Given the description of an element on the screen output the (x, y) to click on. 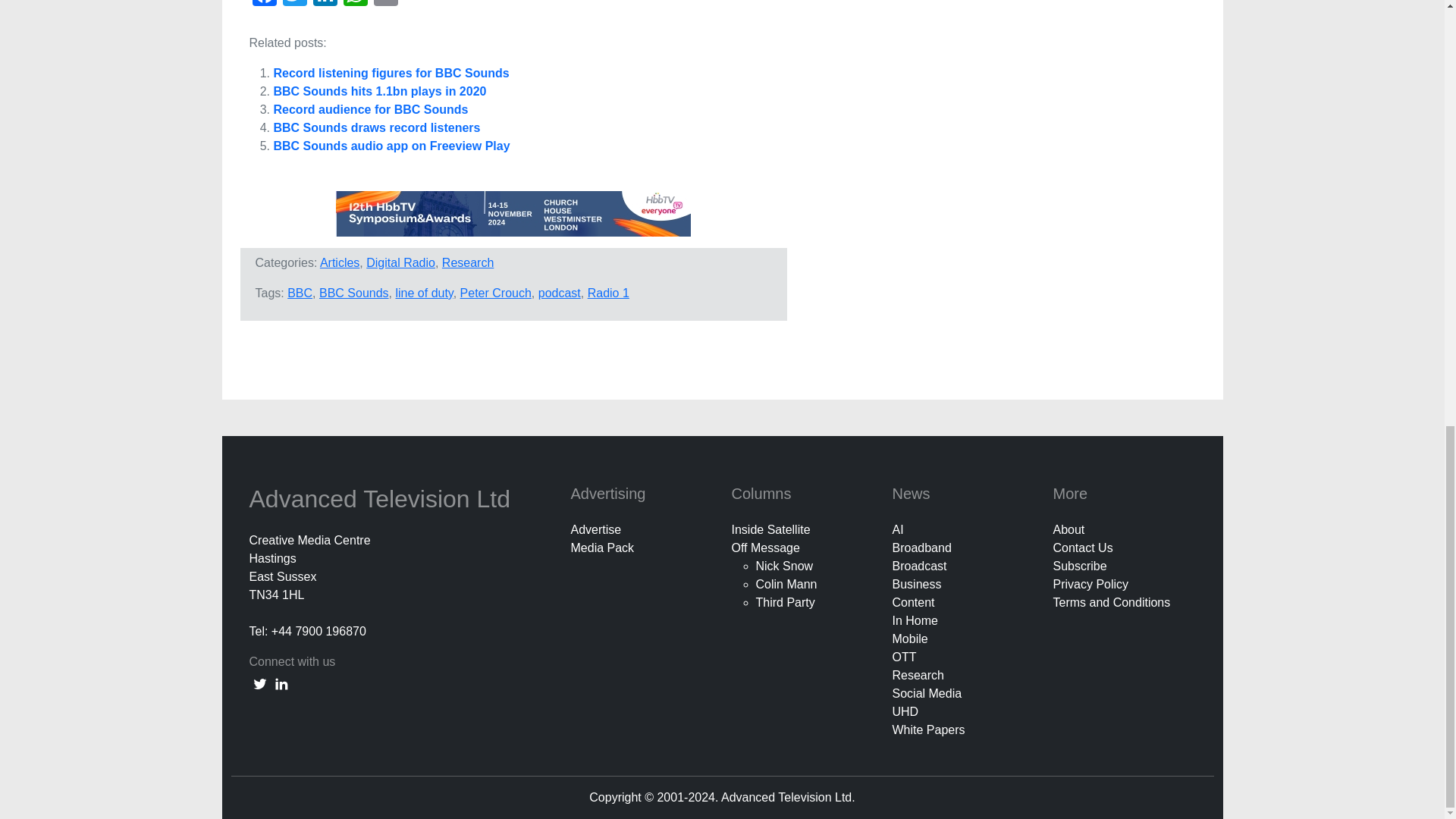
Peter Crouch (495, 292)
Articles (339, 262)
BBC Sounds hits 1.1bn plays in 2020 (379, 91)
Facebook (263, 4)
WhatsApp (354, 4)
BBC Sounds draws record listeners (376, 127)
Twitter (293, 4)
Record audience for BBC Sounds (370, 109)
Facebook (263, 4)
LinkedIn (323, 4)
Record listening figures for BBC Sounds (390, 72)
line of duty (423, 292)
Record listening figures for BBC Sounds (390, 72)
Record audience for BBC Sounds (370, 109)
podcast (559, 292)
